Given the description of an element on the screen output the (x, y) to click on. 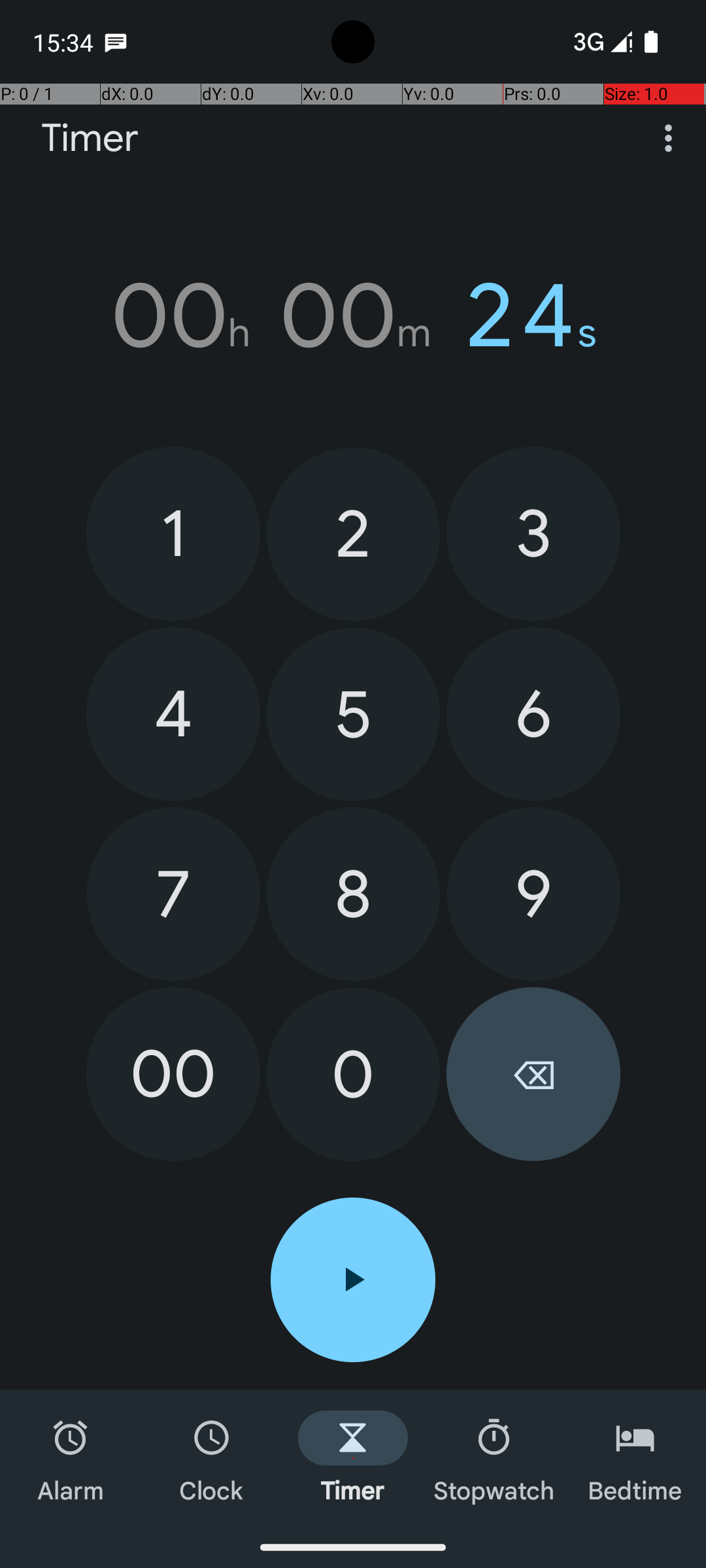
00h 00m 24s Element type: android.widget.TextView (353, 315)
